Given the description of an element on the screen output the (x, y) to click on. 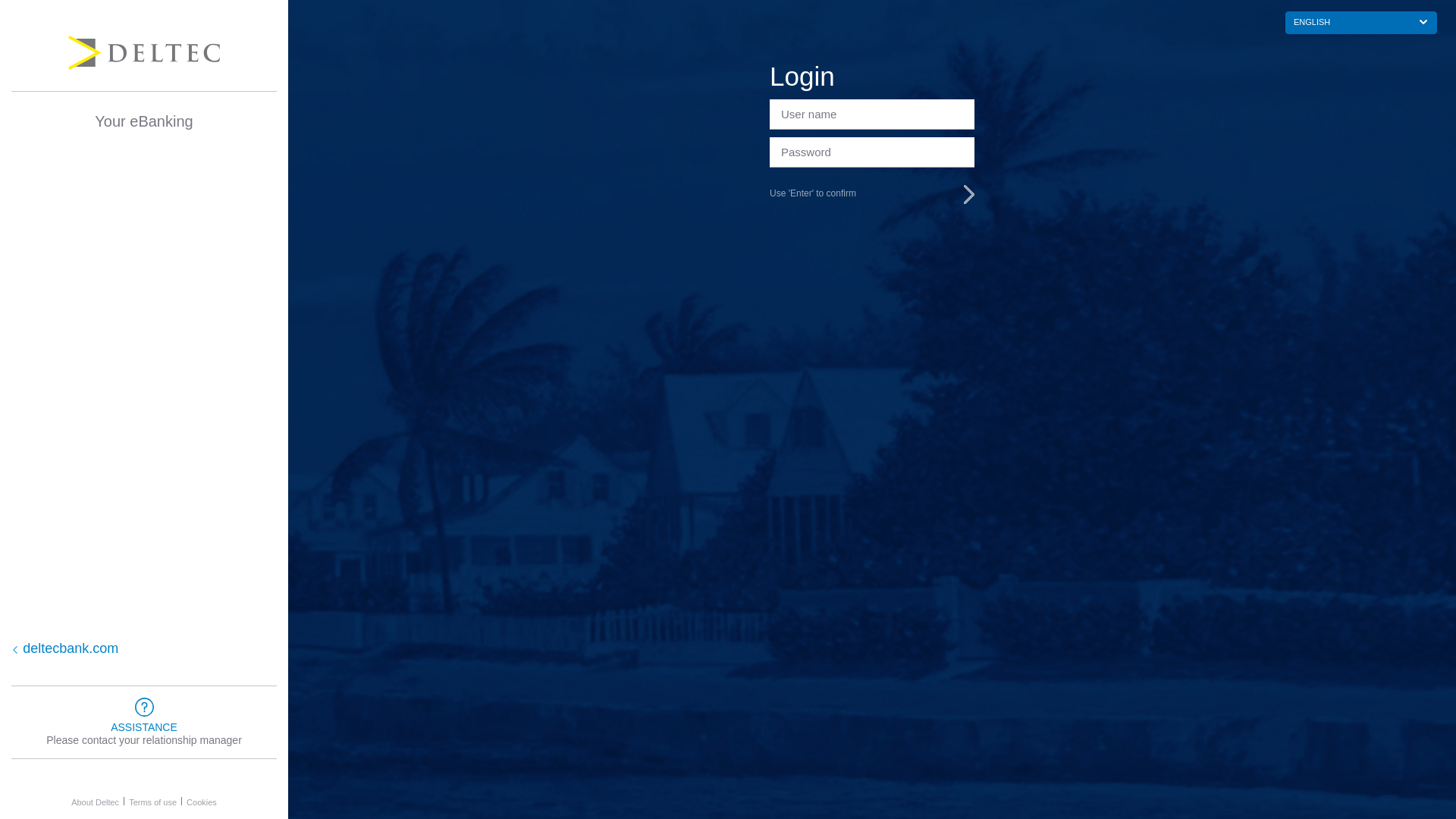
ENGLISH Element type: text (1361, 22)
Terms of use Element type: text (152, 802)
Use 'Enter' to confirm Element type: text (871, 194)
deltecbank.com Element type: text (124, 648)
Cookies Element type: text (201, 802)
About Deltec Element type: text (95, 802)
